Given the description of an element on the screen output the (x, y) to click on. 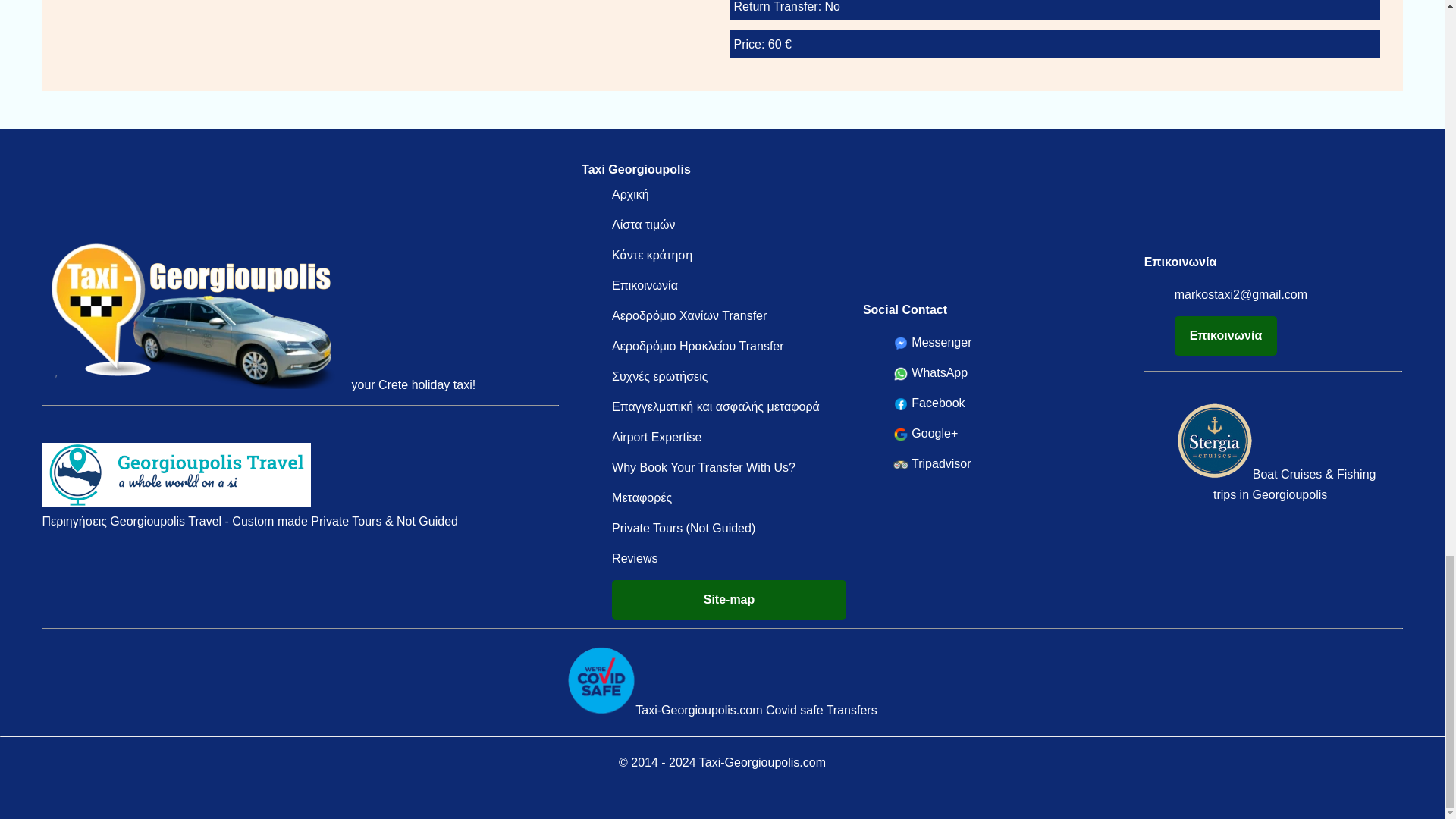
your Crete holiday taxi! (262, 384)
